Given the description of an element on the screen output the (x, y) to click on. 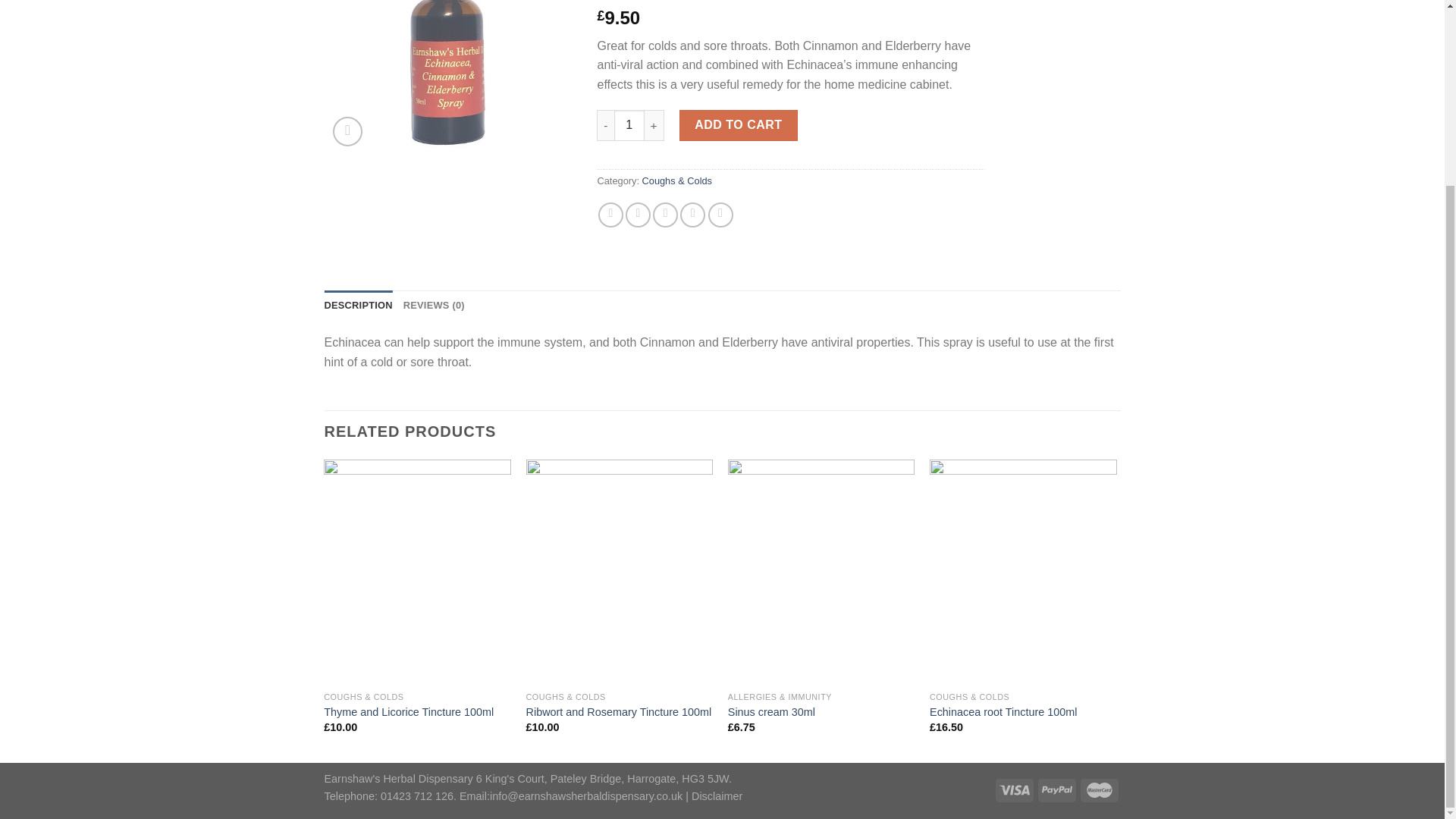
ADD TO CART (738, 124)
Echinacea, Cinnamon and Elderberry Spray (449, 76)
Share on Facebook (610, 214)
Pin on Pinterest (691, 214)
DESCRIPTION (358, 305)
Zoom (347, 131)
Share on Twitter (638, 214)
Share on LinkedIn (720, 214)
Qty (629, 124)
Email to a Friend (665, 214)
